Given the description of an element on the screen output the (x, y) to click on. 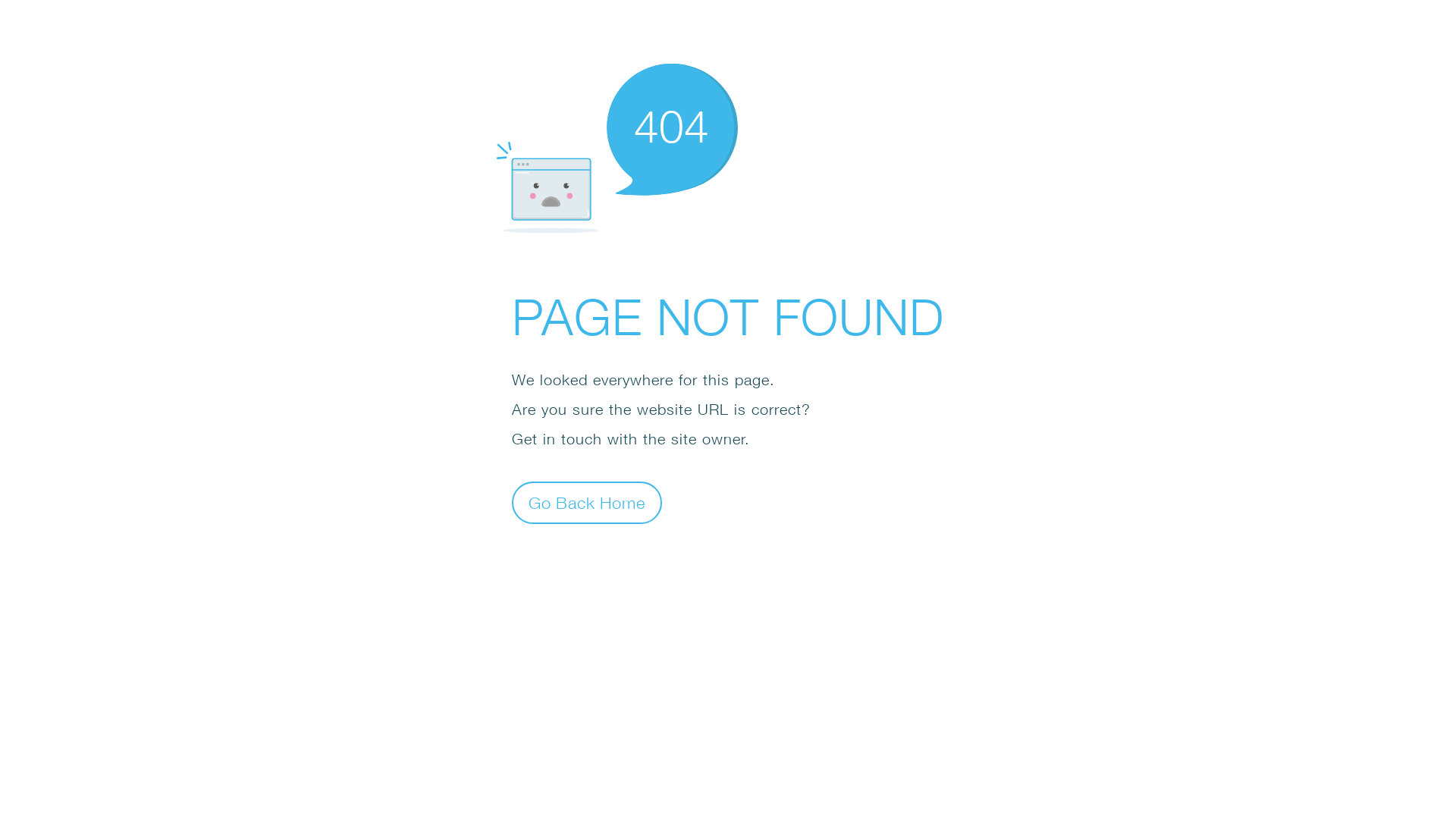
Go Back Home Element type: text (586, 502)
